Given the description of an element on the screen output the (x, y) to click on. 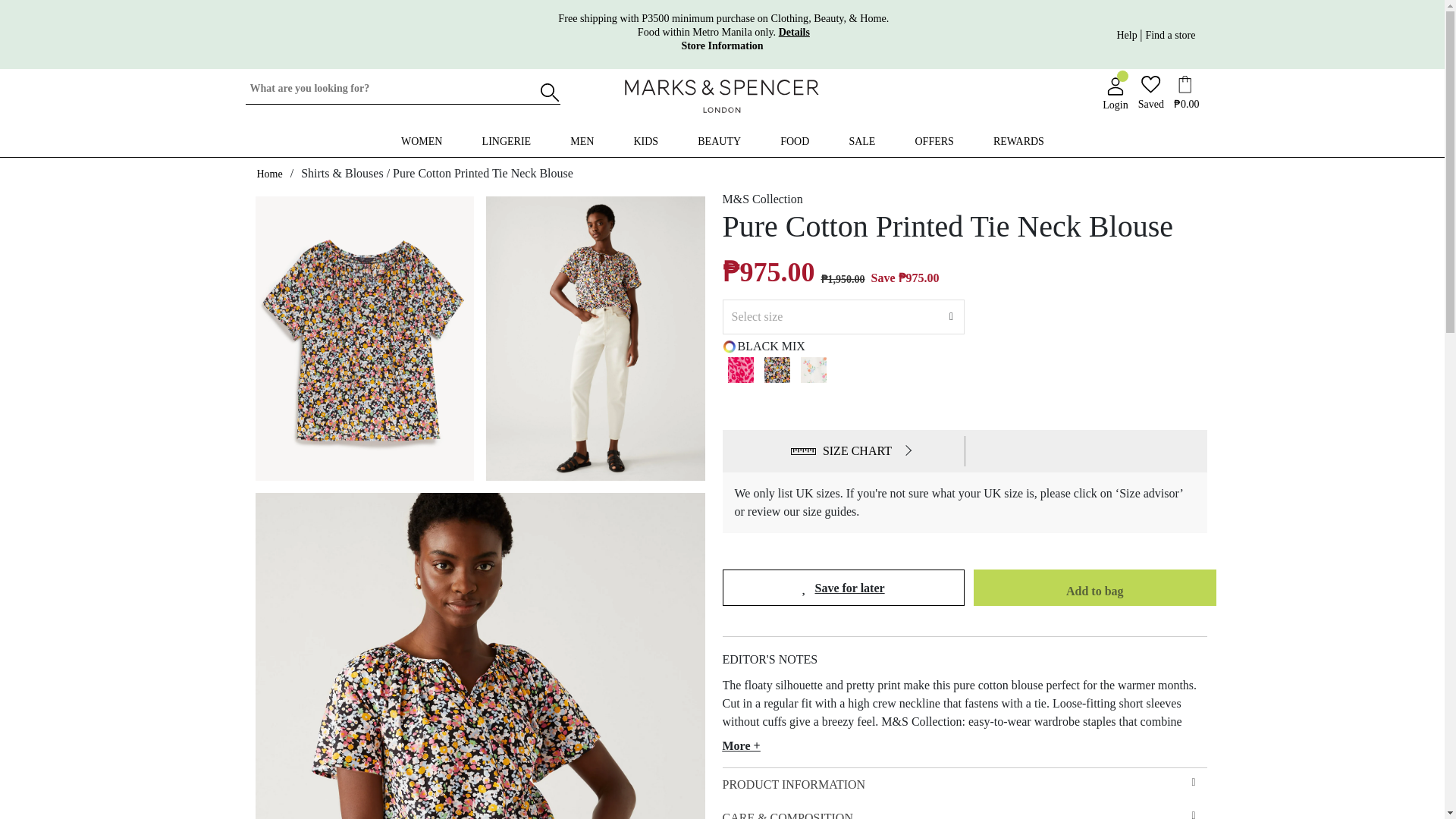
Add to bag (1094, 591)
Help (1128, 34)
Details (793, 31)
Store Information (722, 138)
WOMEN (721, 45)
Find a store (422, 141)
